Given the description of an element on the screen output the (x, y) to click on. 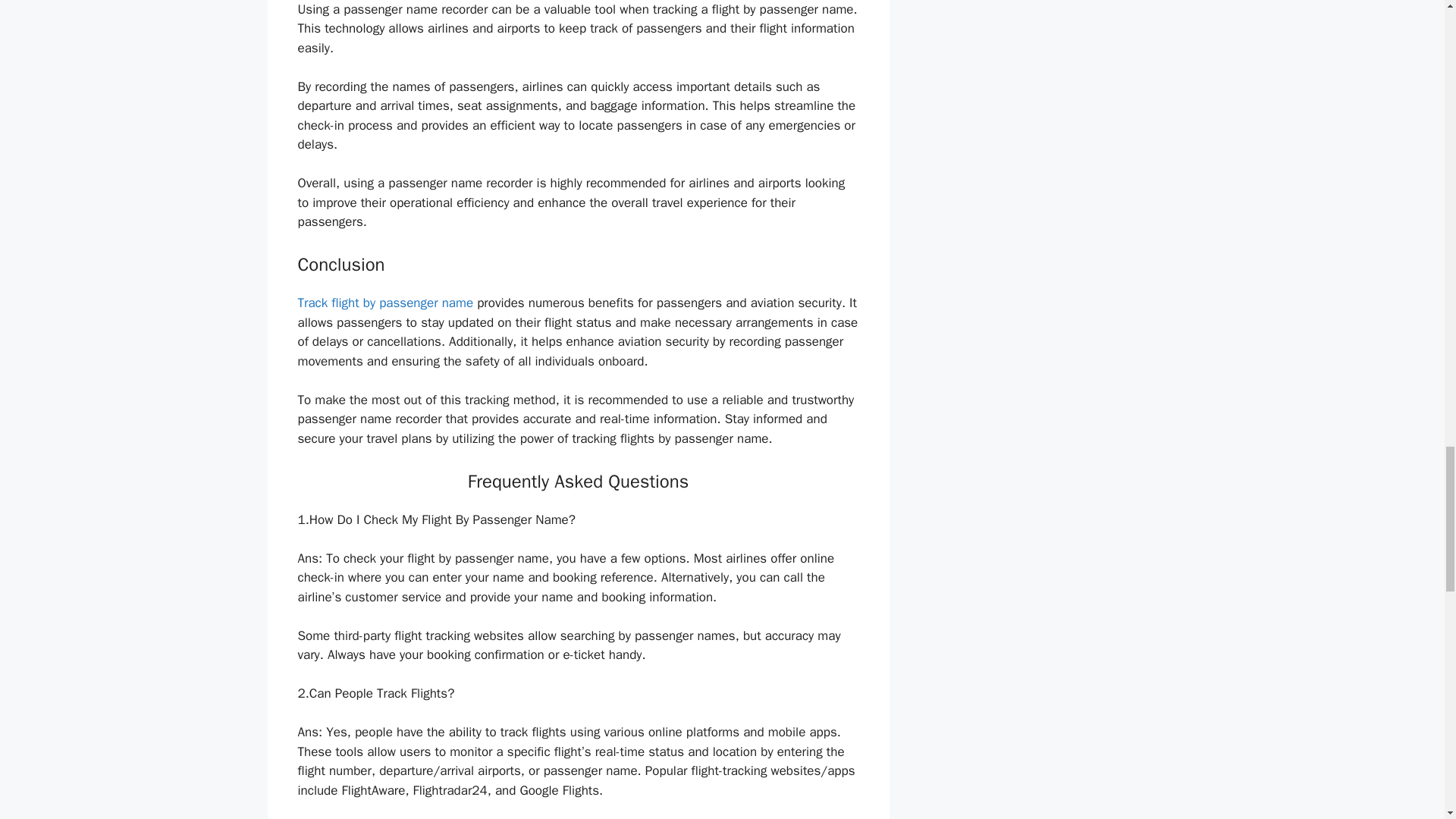
Track flight by passenger name (385, 302)
